Given the description of an element on the screen output the (x, y) to click on. 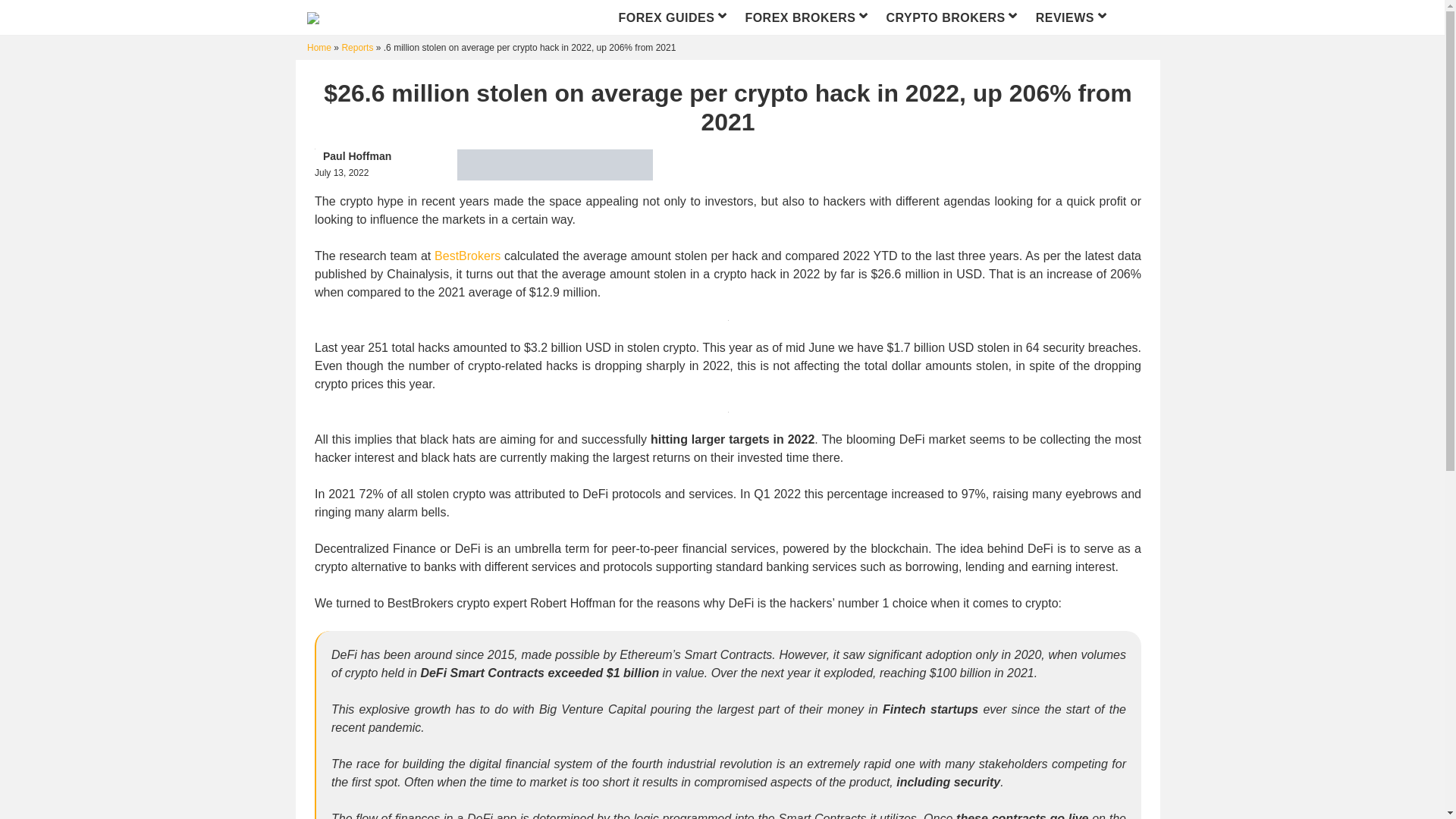
FOREX BROKERS (807, 18)
Reports (356, 47)
FOREX GUIDES (673, 18)
Home (319, 47)
